Given the description of an element on the screen output the (x, y) to click on. 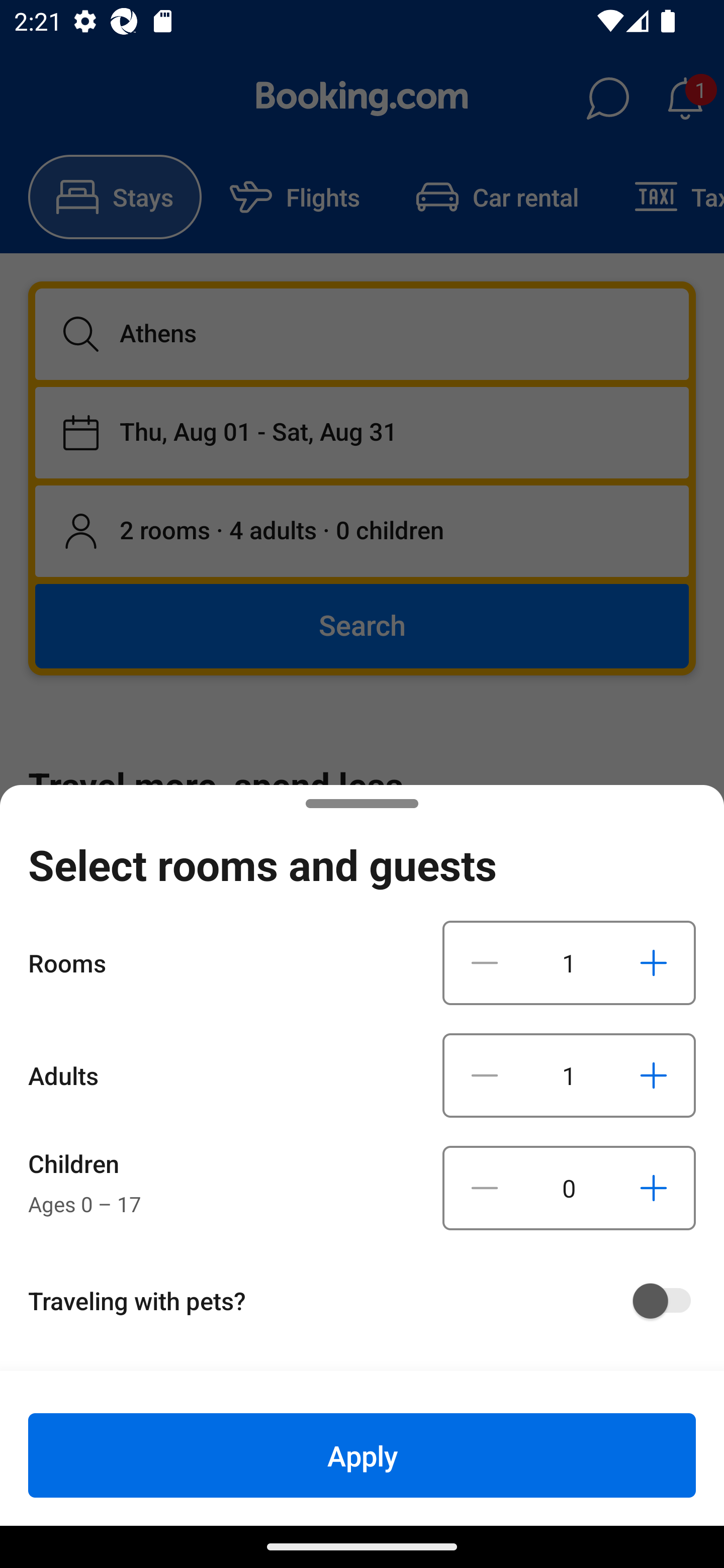
Decrease (484, 962)
Increase (653, 962)
Decrease (484, 1075)
Increase (653, 1075)
Decrease (484, 1188)
Increase (653, 1188)
Traveling with pets? (369, 1300)
Apply (361, 1454)
